Given the description of an element on the screen output the (x, y) to click on. 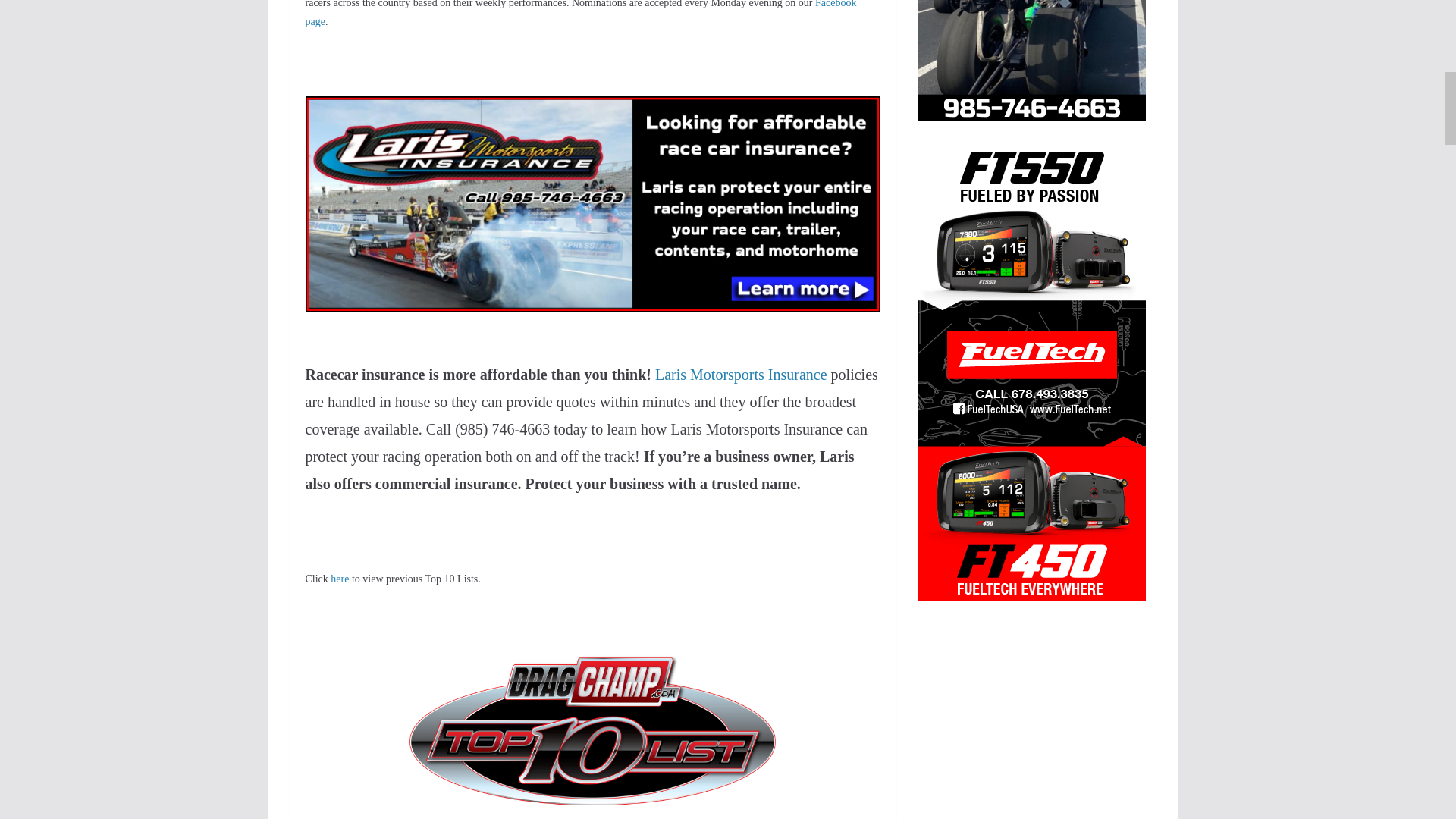
Laris Motorsports Insurance (741, 374)
Facebook page (580, 13)
here (339, 578)
